Given the description of an element on the screen output the (x, y) to click on. 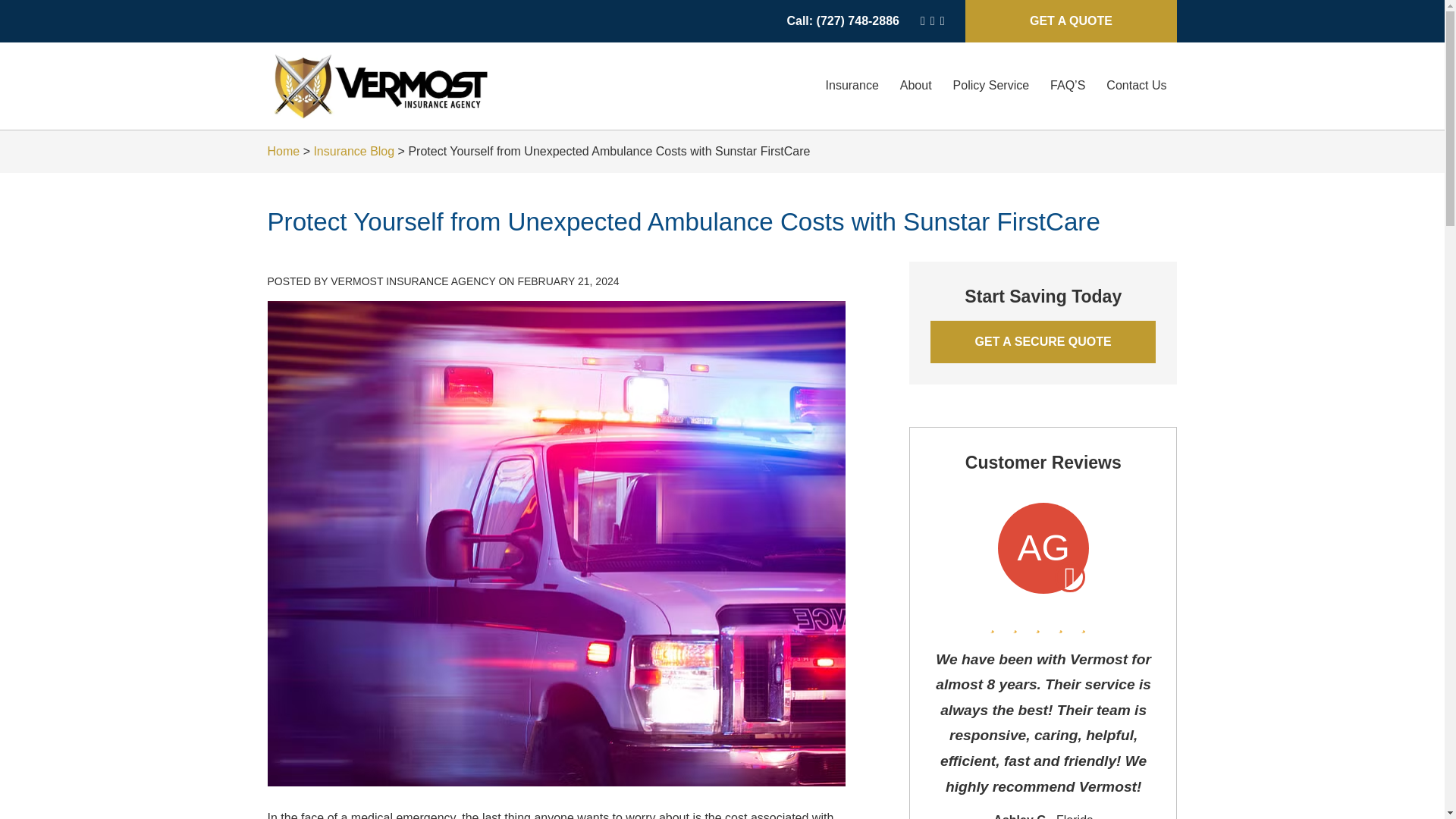
Yelp (932, 21)
GET A QUOTE (1070, 21)
Facebook (942, 21)
Insurance (852, 85)
vermost-logo (380, 85)
Google Maps (922, 21)
